Given the description of an element on the screen output the (x, y) to click on. 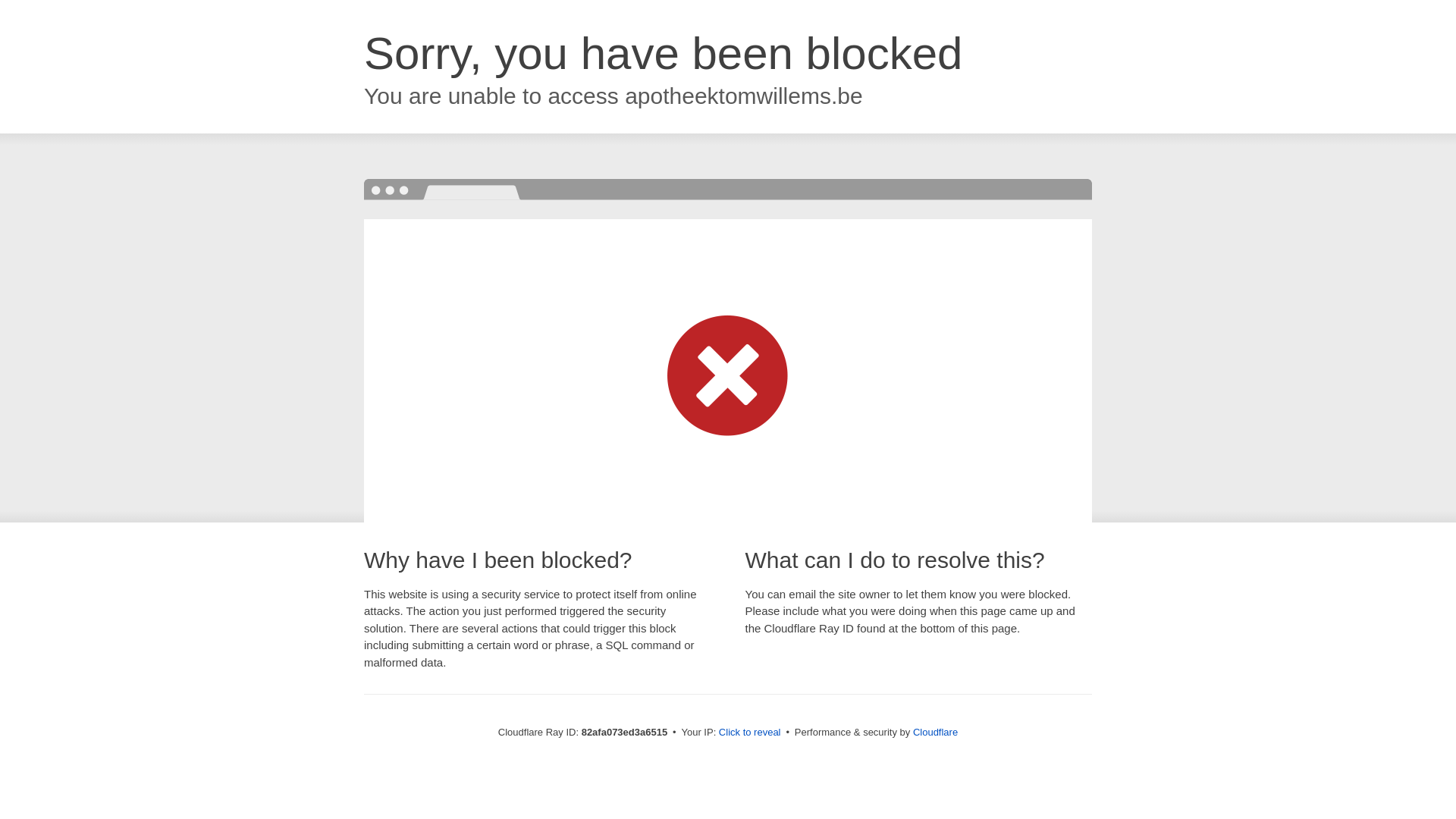
Click to reveal Element type: text (749, 732)
Cloudflare Element type: text (935, 731)
